Given the description of an element on the screen output the (x, y) to click on. 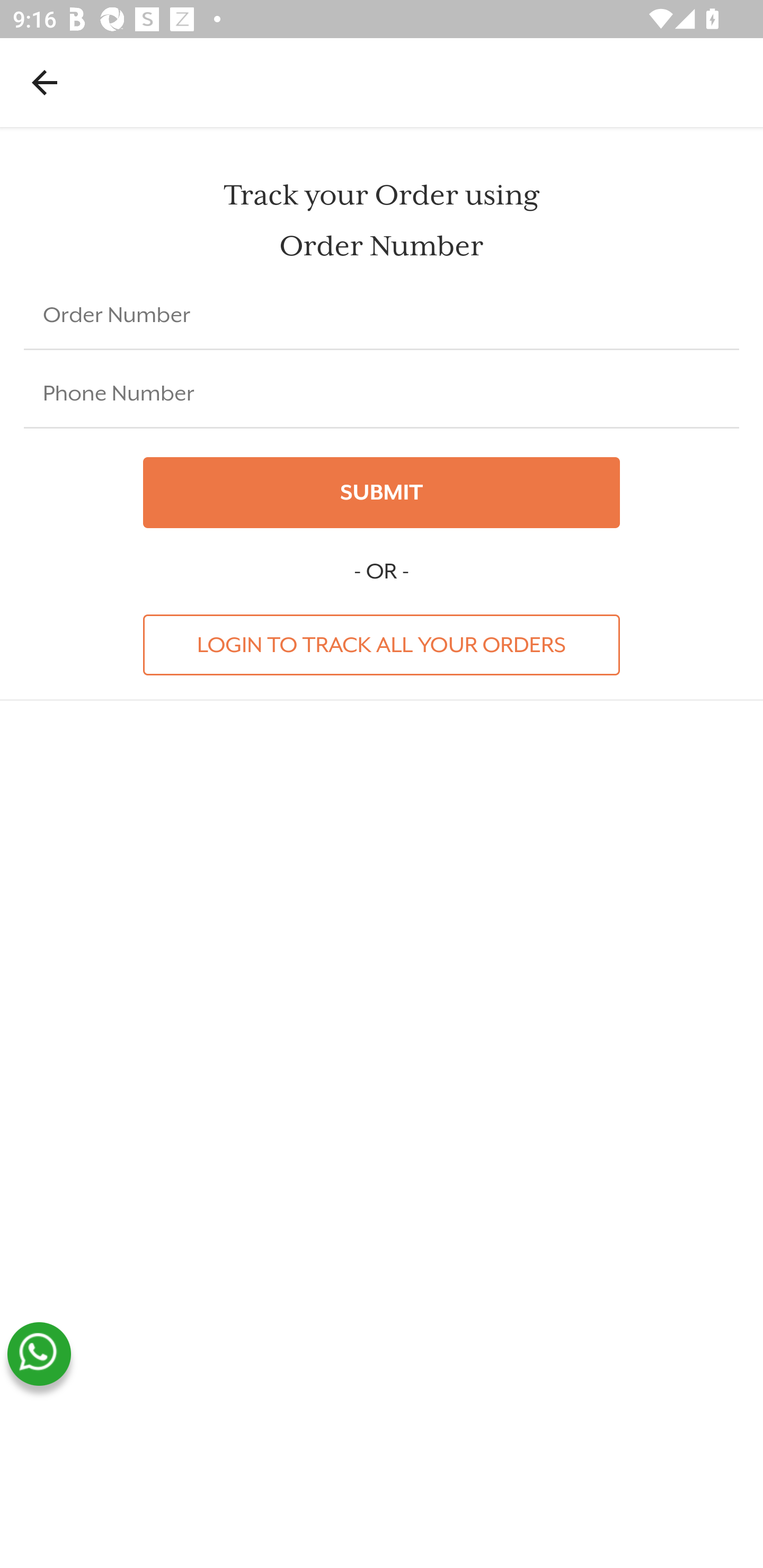
Navigate up (44, 82)
SUBMIT (381, 492)
LOGIN TO TRACK ALL YOUR ORDERS (381, 644)
whatsapp (38, 1353)
